Given the description of an element on the screen output the (x, y) to click on. 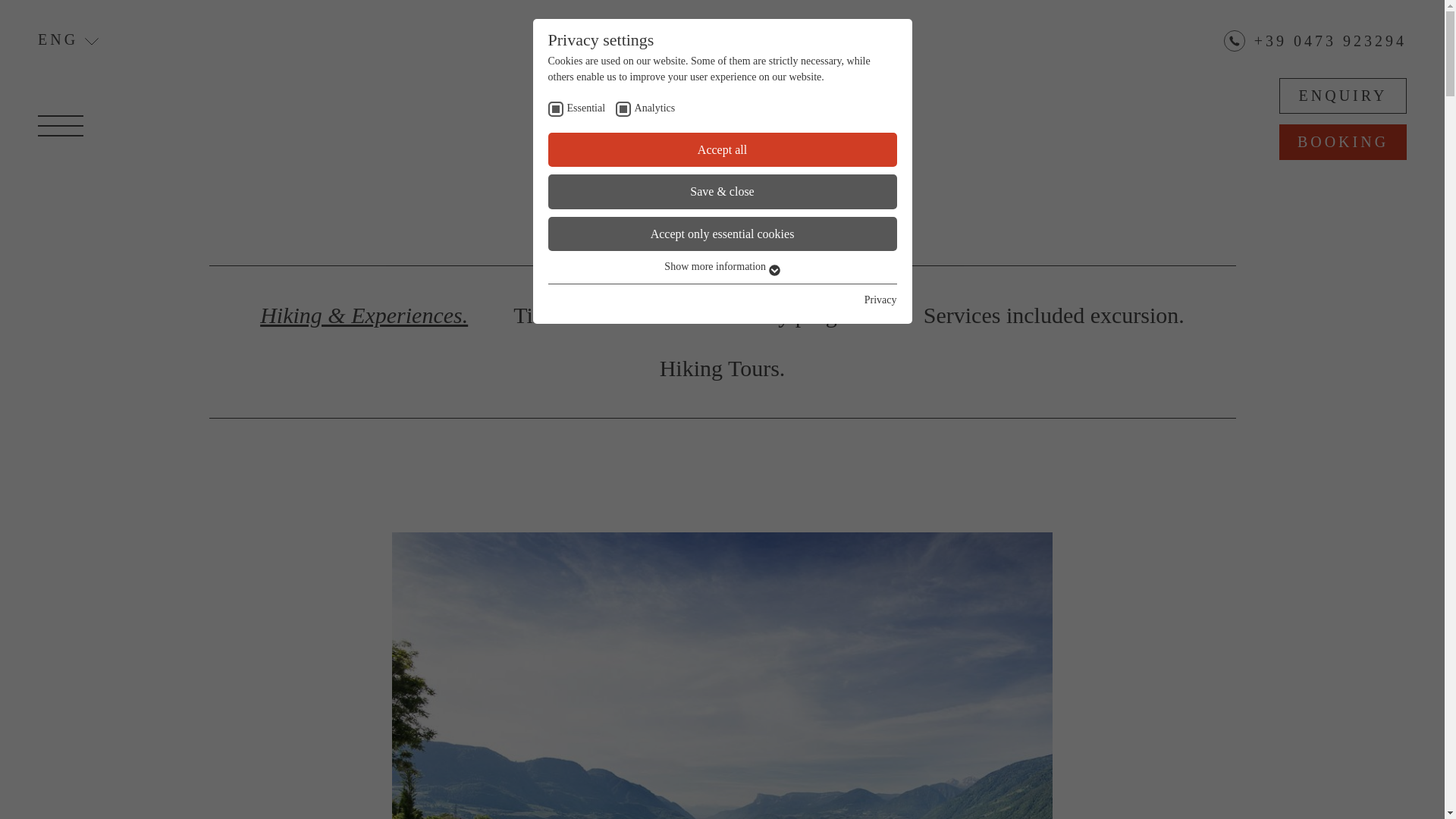
ENQUIRY (1342, 95)
Golserhof (722, 133)
ENG (68, 39)
Weekly program (799, 315)
Services included excursion (1054, 315)
BOOKING (1342, 141)
Hiking Tours (722, 368)
